Given the description of an element on the screen output the (x, y) to click on. 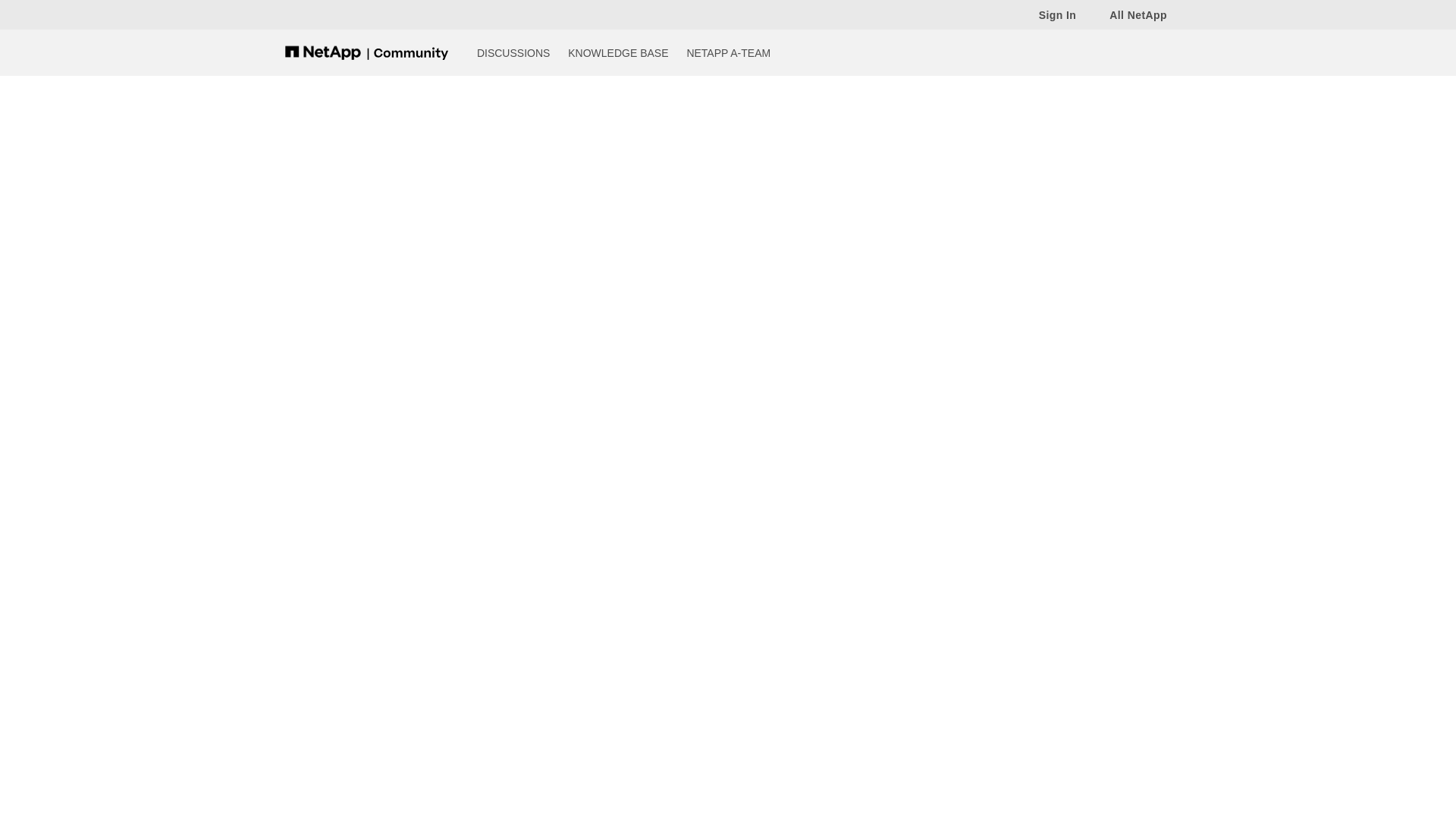
All NetApp (1130, 14)
NETAPP A-TEAM (727, 52)
Sign In (1050, 14)
DISCUSSIONS (513, 52)
KNOWLEDGE BASE (617, 52)
All NetApp (1130, 14)
